Given the description of an element on the screen output the (x, y) to click on. 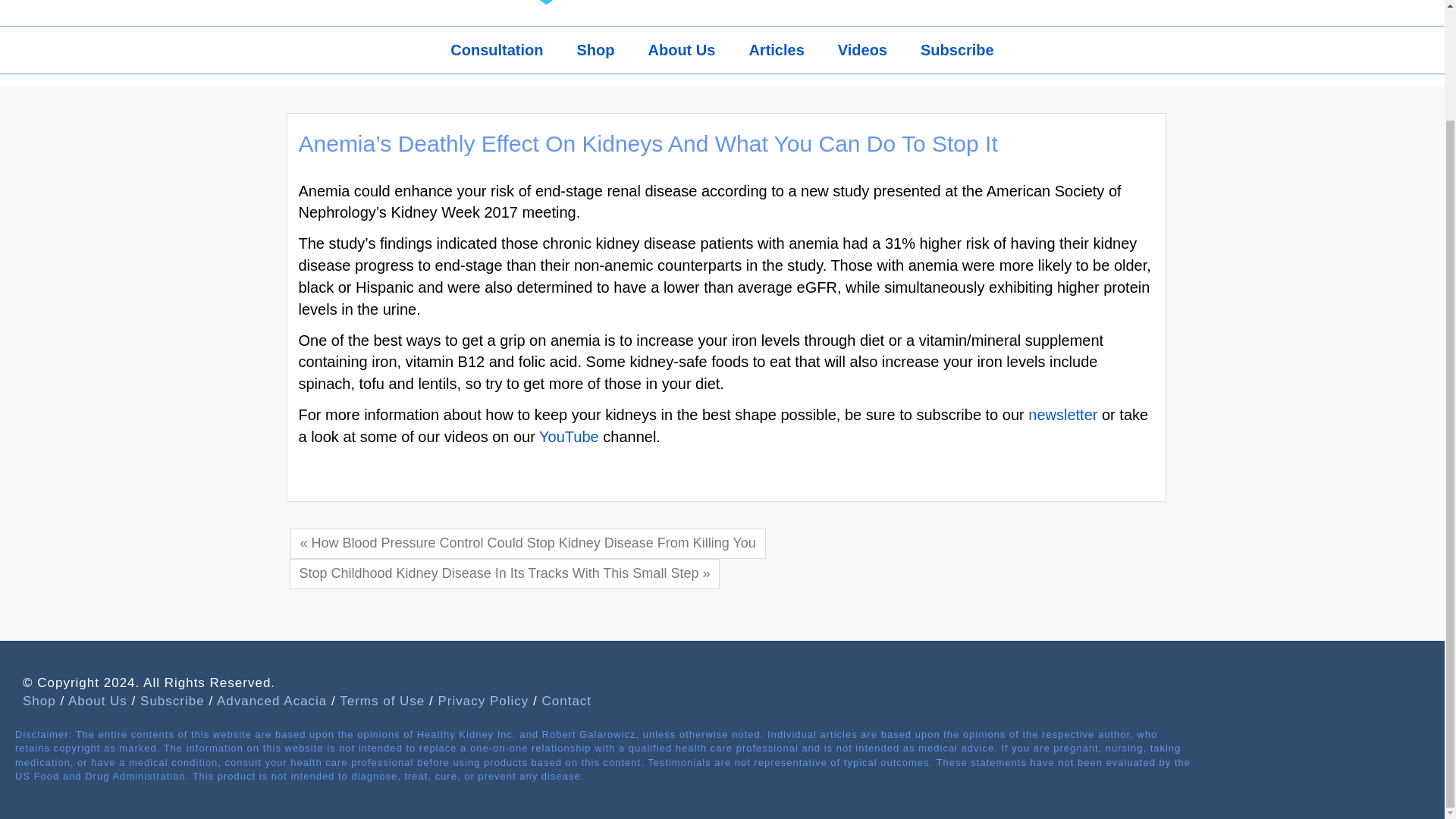
Advanced Acacia (271, 700)
newsletter (1062, 414)
Articles (775, 50)
Consultation (496, 50)
Privacy Policy (483, 700)
Shop (595, 50)
Subscribe (172, 700)
Subscribe (957, 50)
